Given the description of an element on the screen output the (x, y) to click on. 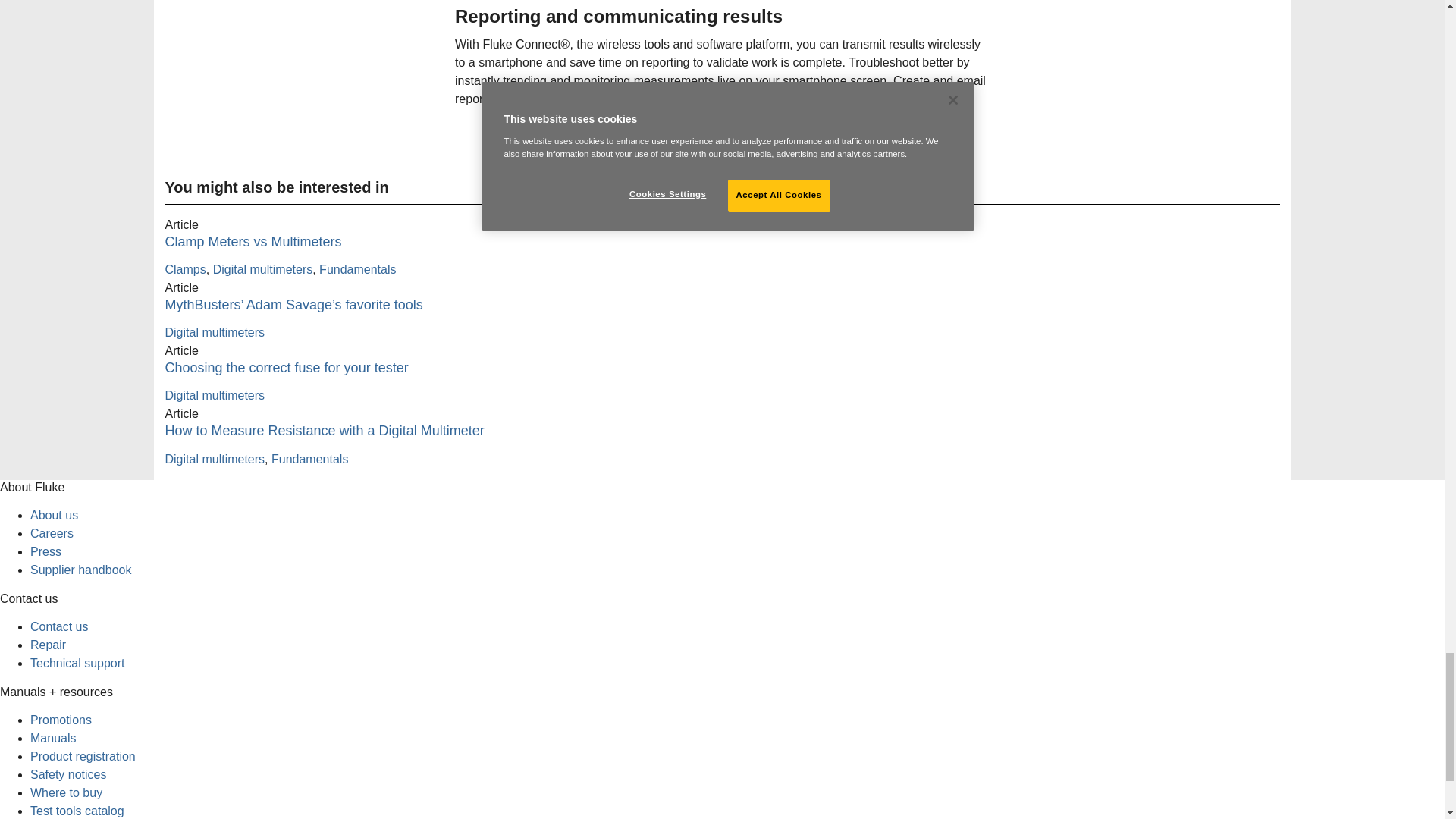
Careers (52, 533)
About us (54, 514)
Press (45, 551)
